Given the description of an element on the screen output the (x, y) to click on. 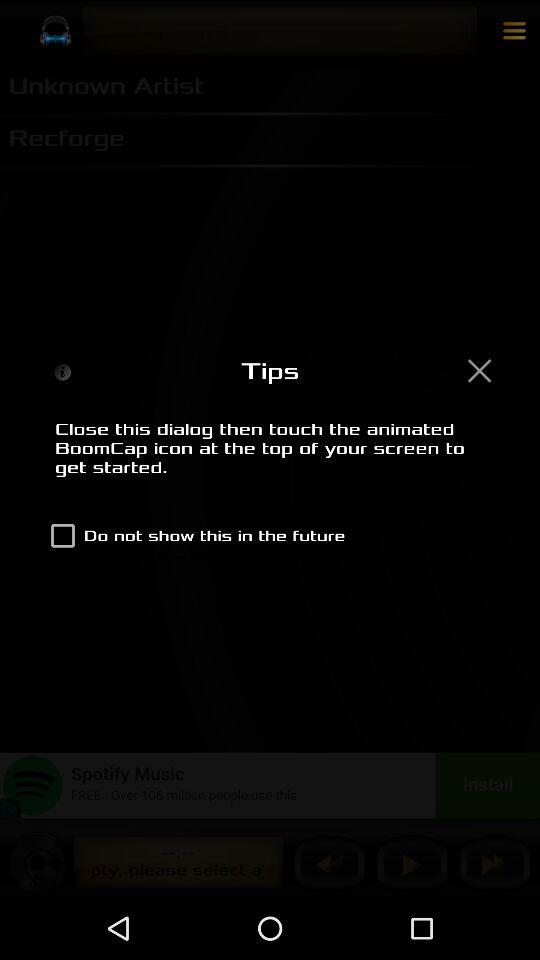
choose icon below the tips icon (269, 459)
